Given the description of an element on the screen output the (x, y) to click on. 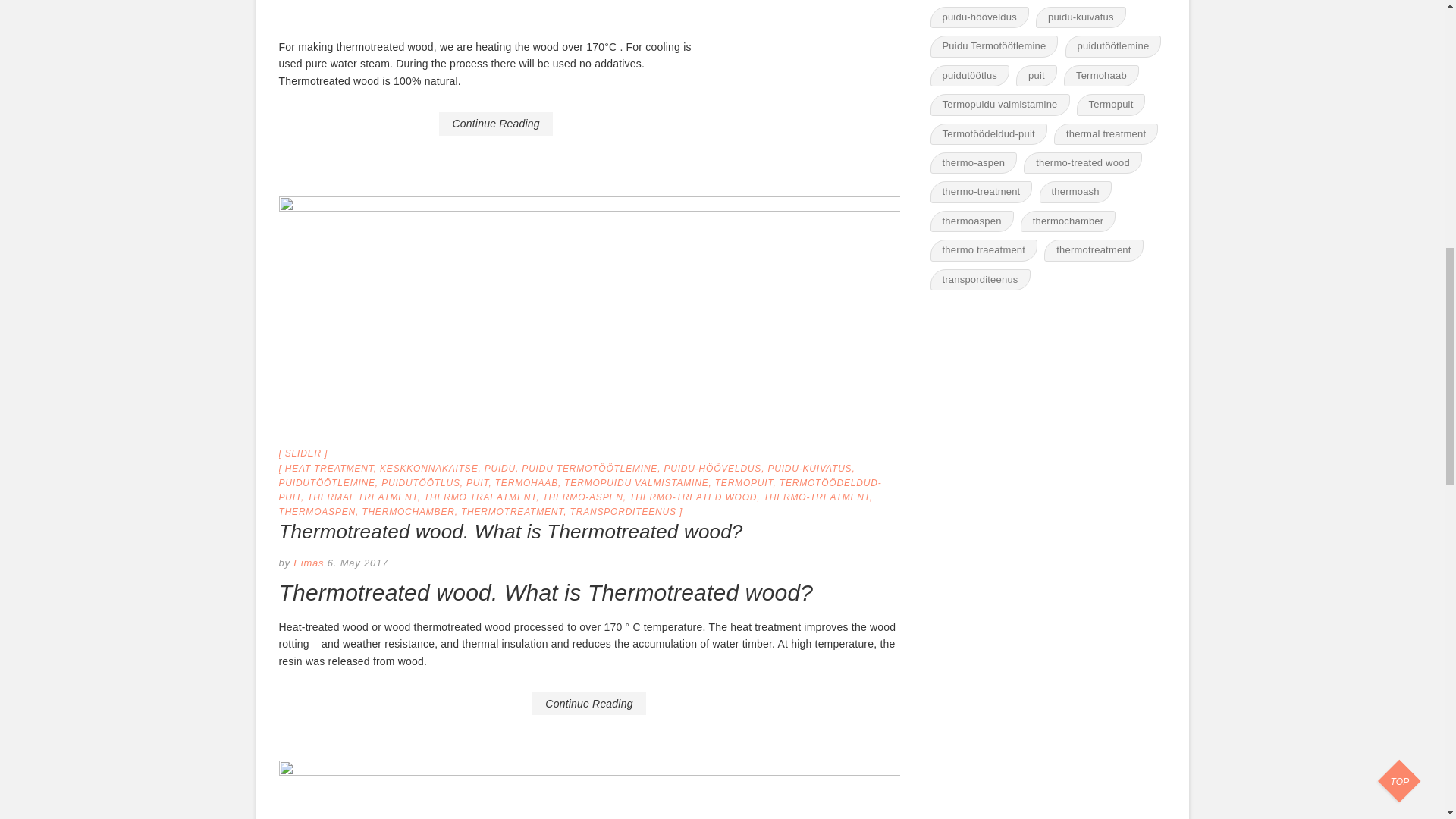
Thermotreated wood. What is Thermotreated wood? (510, 531)
Eimas (306, 562)
Thermotreated wood. Thermotreatment (589, 789)
07:04 PM (357, 562)
